Given the description of an element on the screen output the (x, y) to click on. 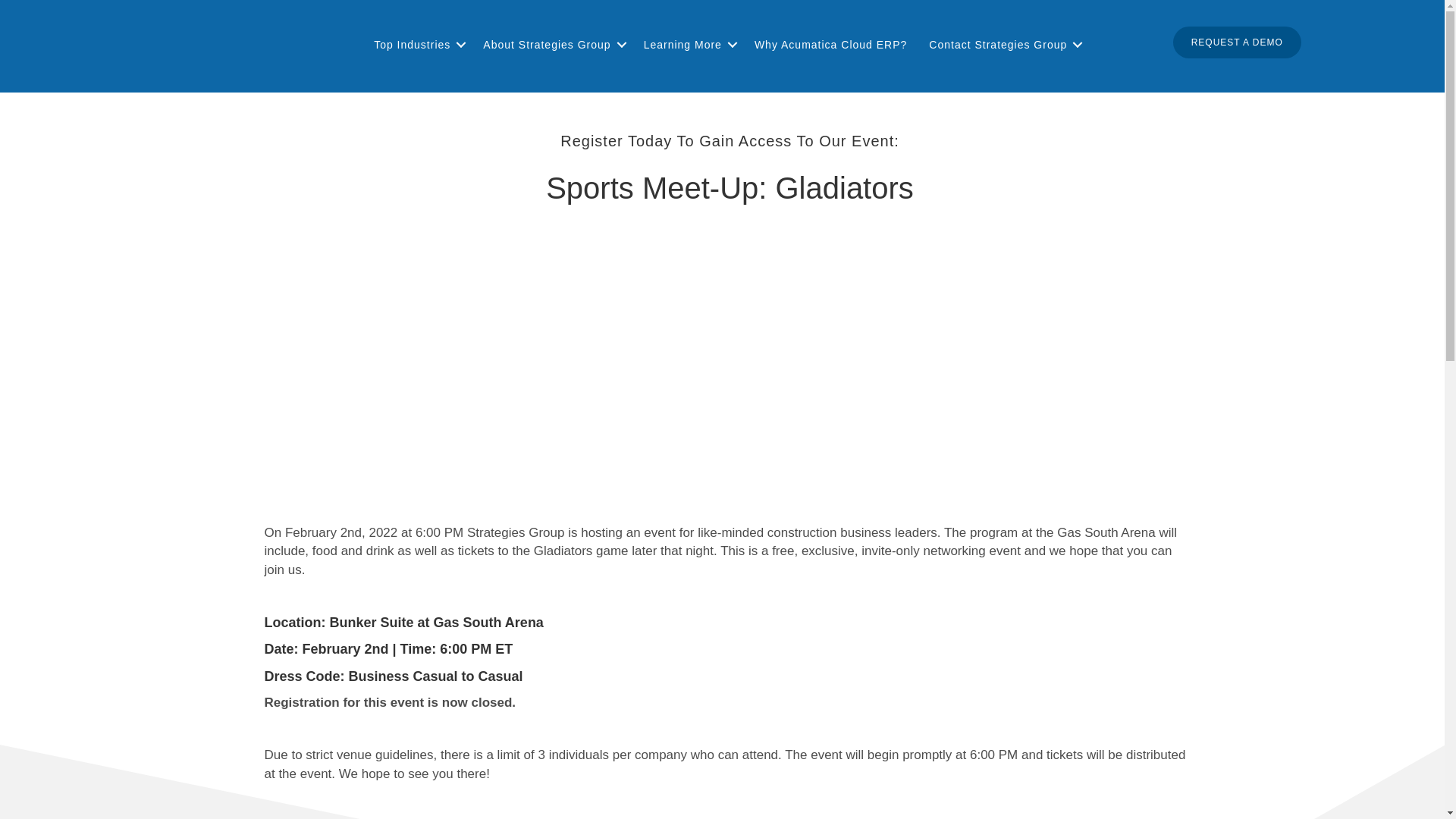
REQUEST A DEMO (1237, 42)
Why Acumatica Cloud ERP? (830, 44)
Learning More (687, 44)
Contact Strategies Group (1002, 44)
About Strategies Group (551, 44)
Top Industries (416, 44)
